Given the description of an element on the screen output the (x, y) to click on. 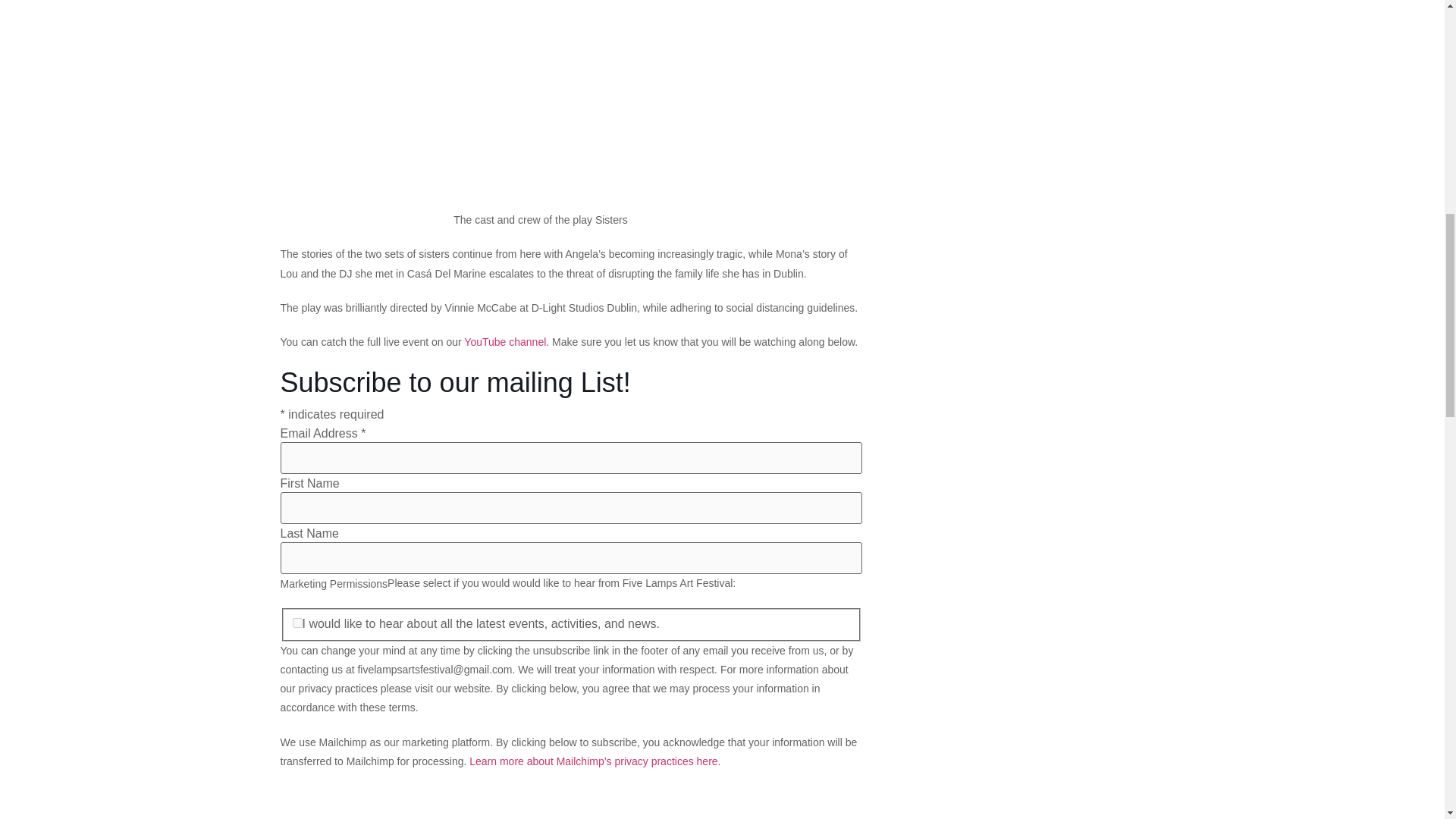
Subscribe (326, 810)
YouTube channel. (506, 341)
Y (297, 623)
